Given the description of an element on the screen output the (x, y) to click on. 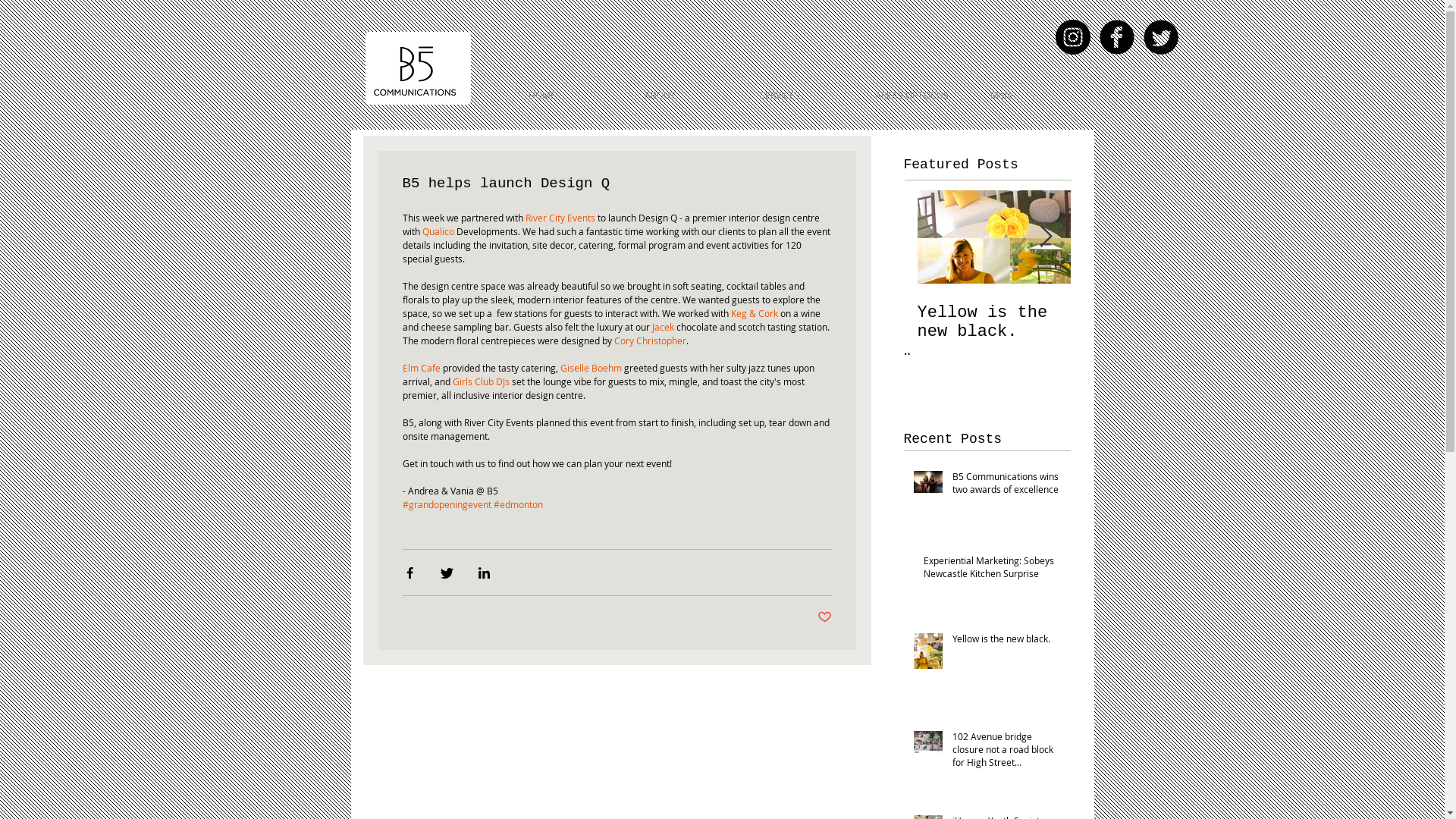
AREAS OF FOCUS Element type: text (920, 94)
Keg & Cork Element type: text (754, 313)
SERVICES Element type: text (804, 94)
Yellow is the new black. Element type: text (1006, 641)
Cory Christopher Element type: text (650, 340)
Post not marked as liked Element type: text (824, 617)
River City Events Element type: text (559, 217)
Giselle Boehm Element type: text (590, 367)
HOME Element type: text (575, 94)
Yellow is the new black. Element type: text (1152, 322)
ABOUT Element type: text (689, 94)
Girls Club DJs Element type: text (479, 381)
Qualico Element type: text (437, 231)
Experiential Marketing: Sobeys Newcastle Kitchen Surprise Element type: text (992, 570)
 Jacek Element type: text (661, 326)
B5 Communications wins two awards of excellence Element type: text (1006, 486)
Elm Cafe Element type: text (420, 367)
#edmonton Element type: text (517, 504)
Experiential Marketing: Sobeys Newcastle Kitchen Surprise Element type: text (986, 331)
#grandopeningevent Element type: text (445, 504)
